Given the description of an element on the screen output the (x, y) to click on. 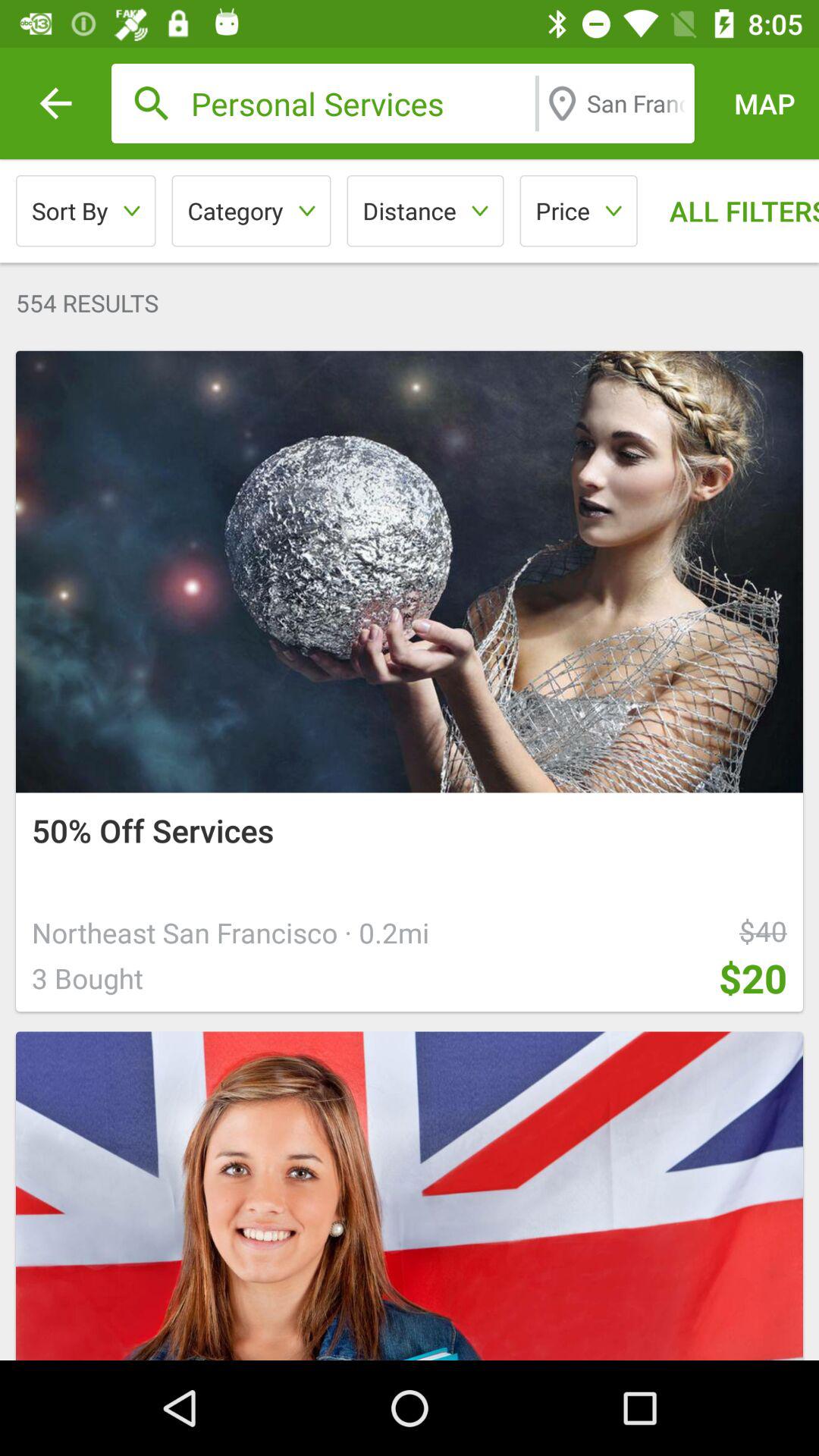
swipe to the all filters (732, 210)
